Given the description of an element on the screen output the (x, y) to click on. 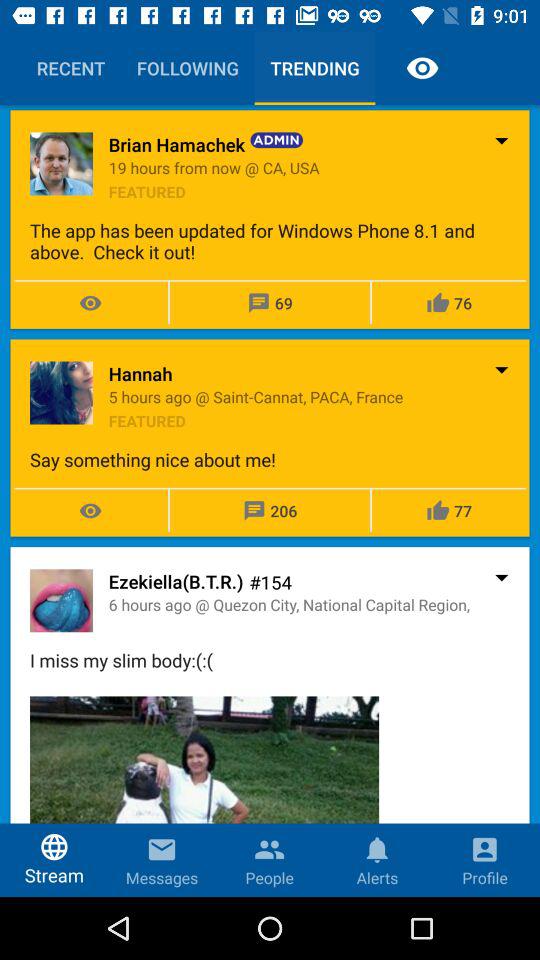
select the icon next to the #154 (175, 581)
